Given the description of an element on the screen output the (x, y) to click on. 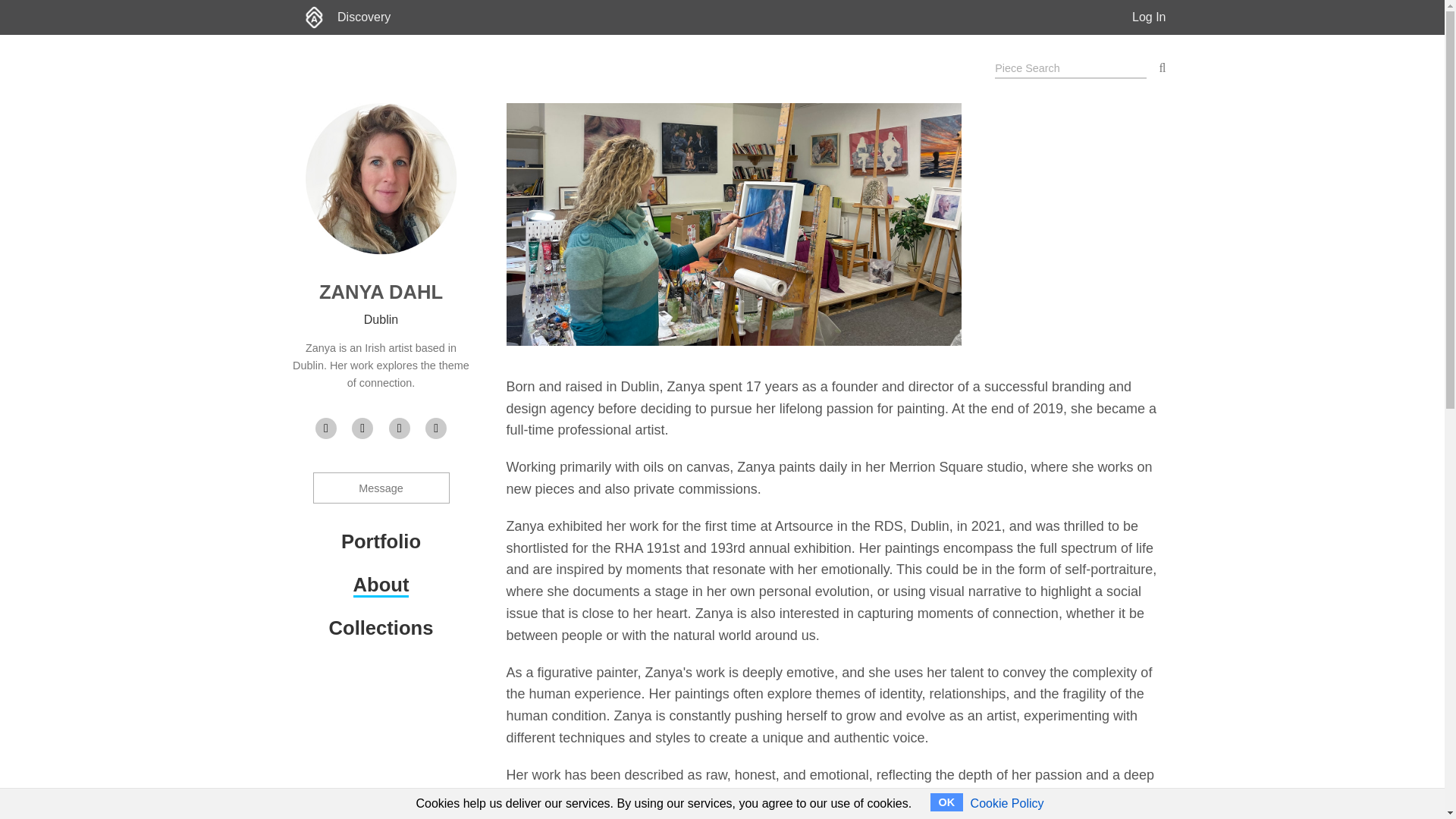
OK (946, 802)
Portfolio (380, 541)
Message (380, 487)
LinkedIn (399, 427)
Website (325, 427)
Facebook (362, 427)
Discovery (363, 16)
ZANYA DAHL (380, 291)
Collections (381, 627)
About (381, 585)
